Given the description of an element on the screen output the (x, y) to click on. 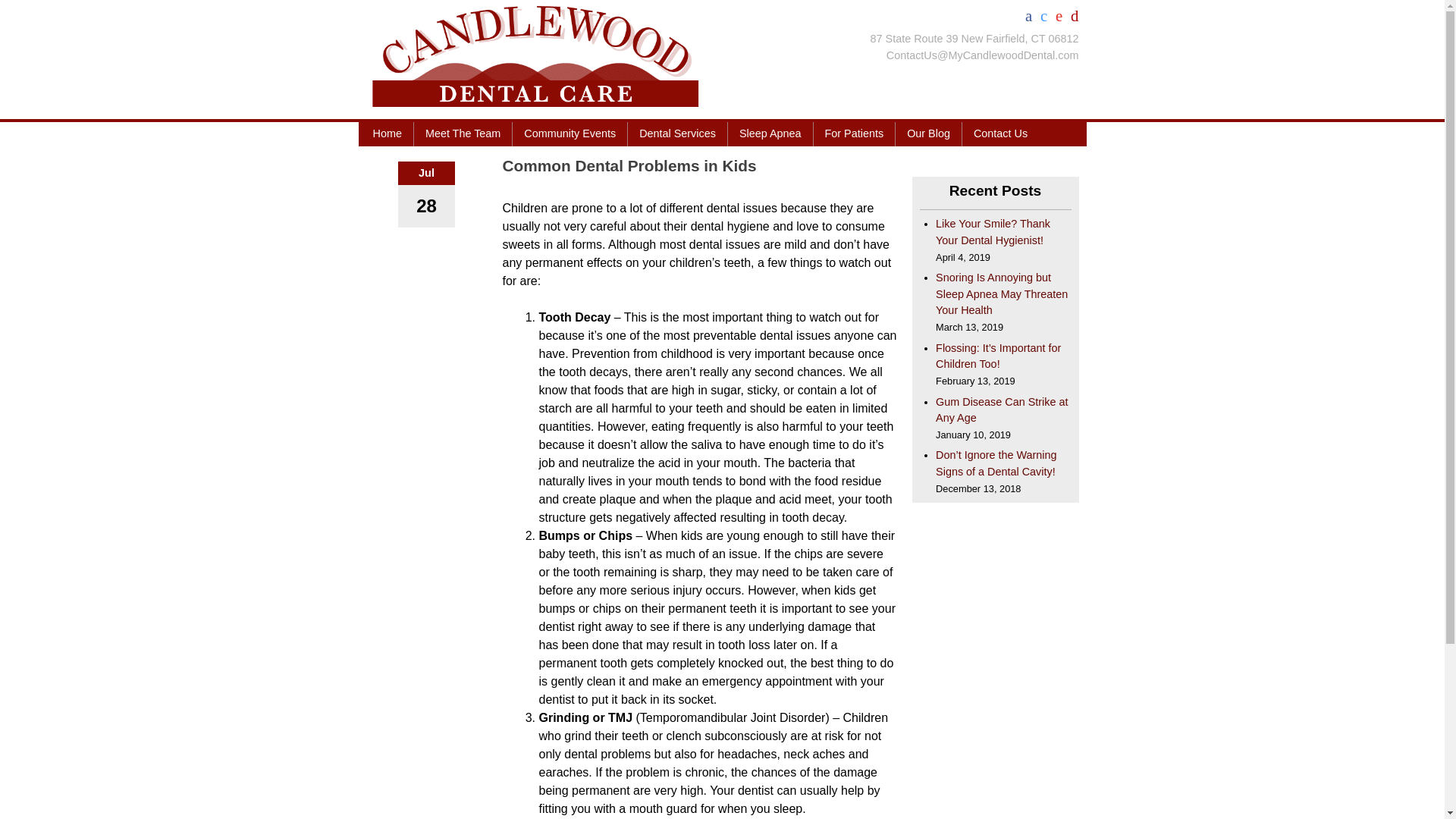
Home (386, 134)
Meet The Team (462, 134)
87 State Route 39 New Fairfield, CT 06812 (974, 38)
Community Events (569, 134)
Dental Services (676, 134)
